Given the description of an element on the screen output the (x, y) to click on. 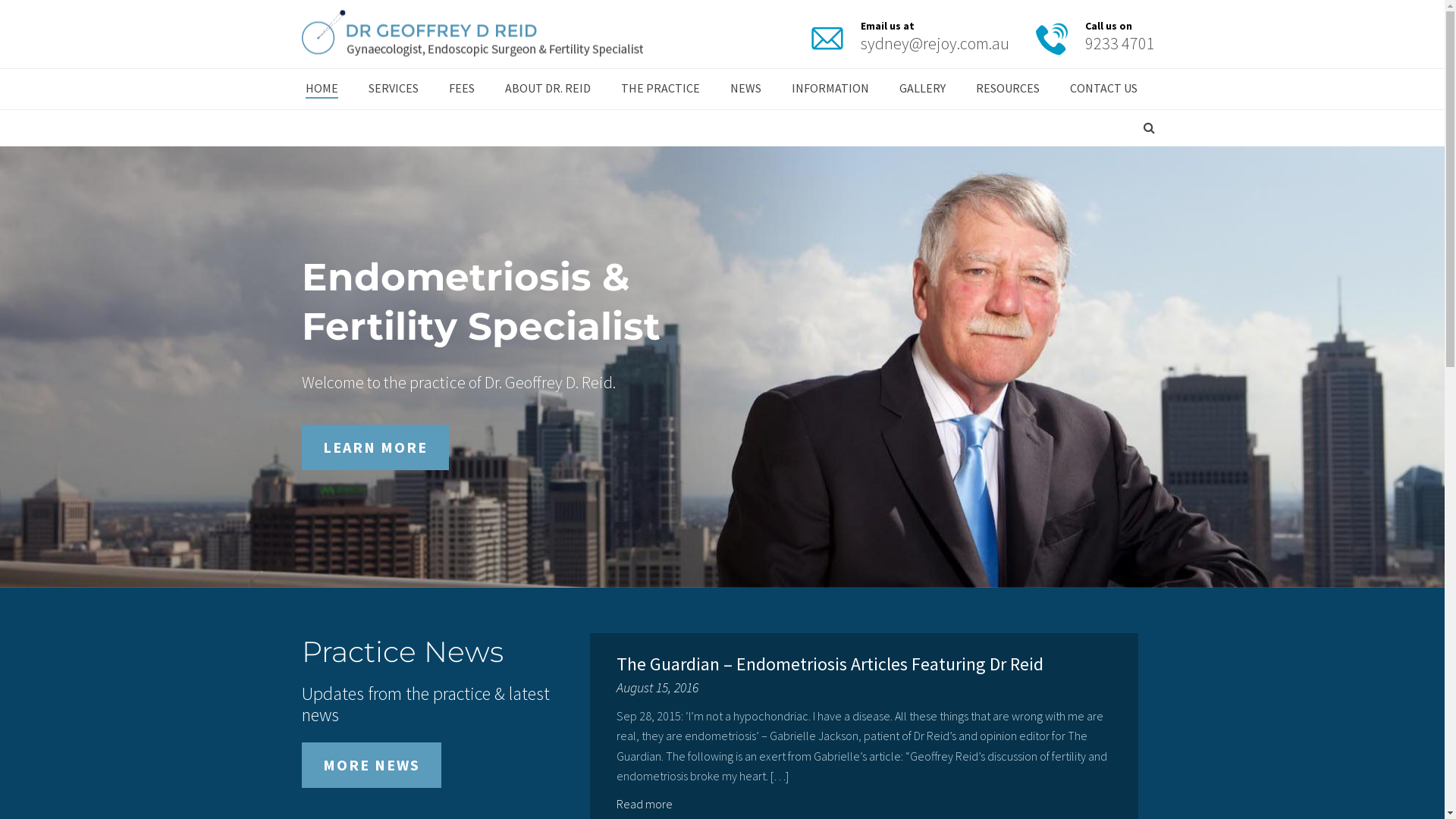
NEWS Element type: text (744, 89)
Read more Element type: text (645, 803)
LEARN MORE Element type: text (374, 447)
MORE NEWS Element type: text (371, 764)
SERVICES Element type: text (393, 89)
FEES Element type: text (461, 89)
ABOUT DR. REID Element type: text (547, 89)
HOME Element type: text (320, 89)
INFORMATION Element type: text (830, 89)
Gynaecologist, Endoscopic Surgeon & Fertility Specialist Element type: hover (472, 34)
THE PRACTICE Element type: text (659, 89)
CONTACT US Element type: text (1102, 89)
GALLERY Element type: text (922, 89)
RESOURCES Element type: text (1007, 89)
Dr. Geoffrey D. Reid Element type: hover (472, 34)
